Given the description of an element on the screen output the (x, y) to click on. 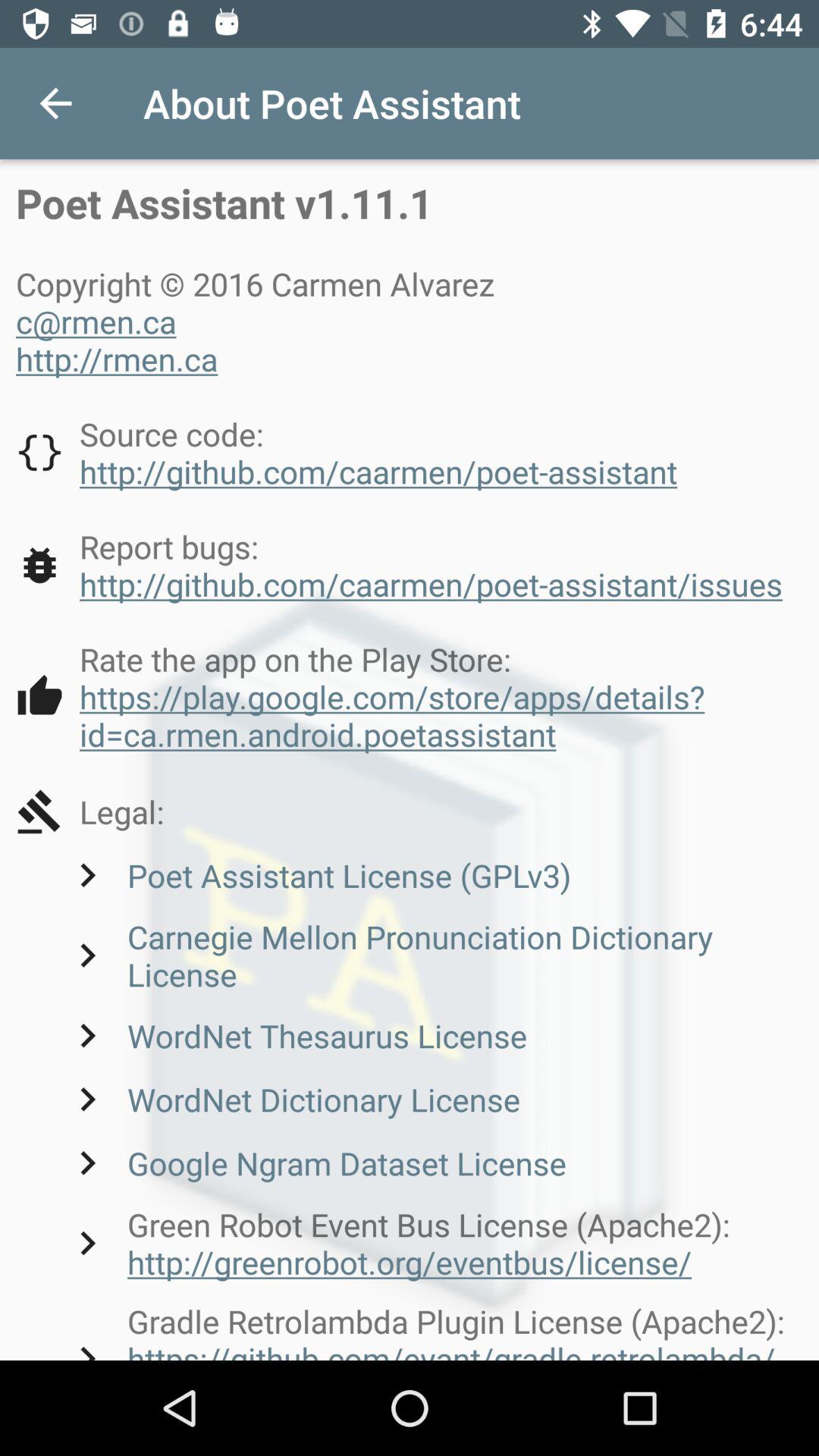
jump to the gradle retrolambda plugin (433, 1329)
